Given the description of an element on the screen output the (x, y) to click on. 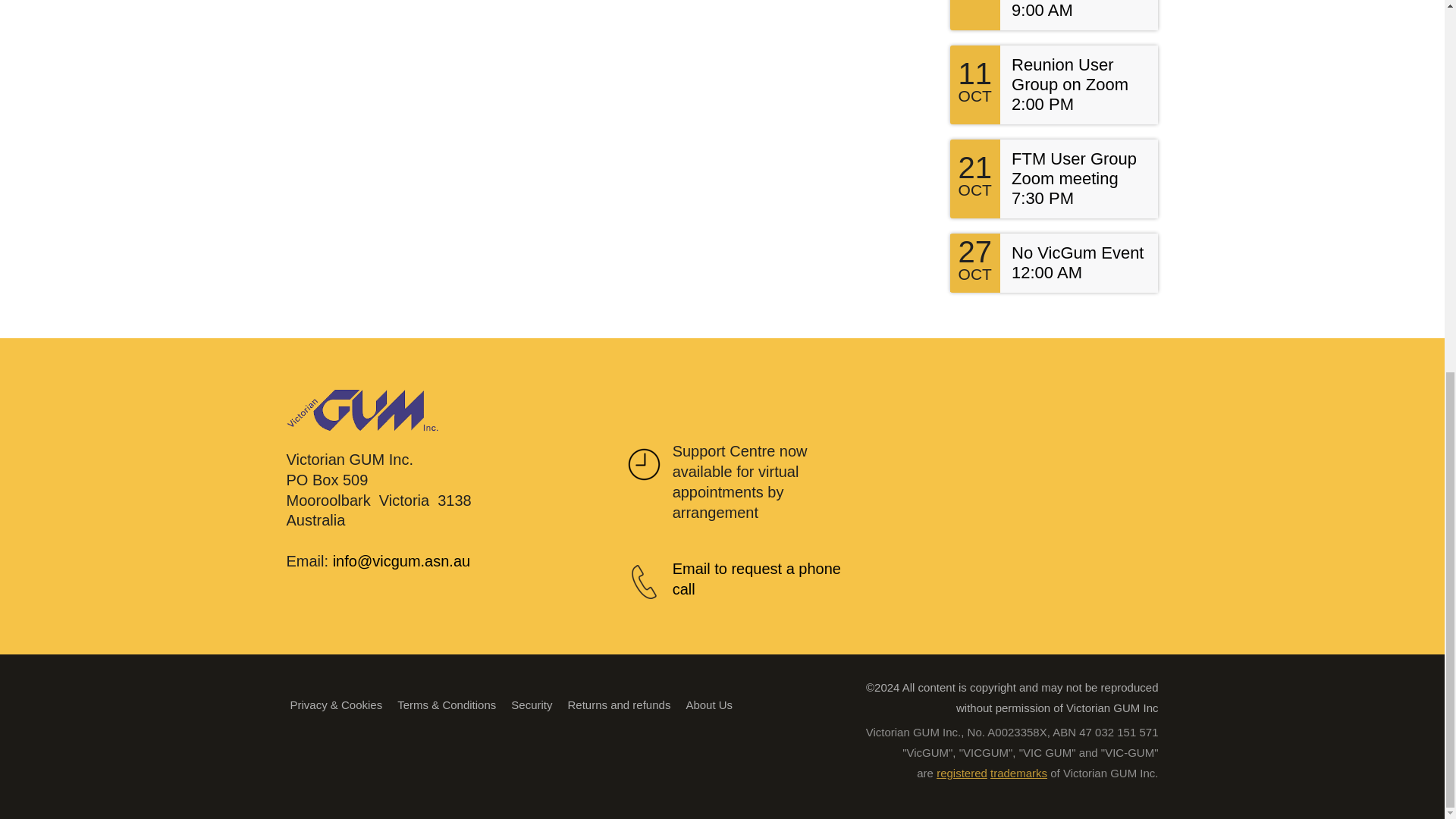
FTM User Group Zoom meeting (1074, 168)
No VicGum Event (1076, 252)
Reunion User Group on Zoom (1069, 74)
